Given the description of an element on the screen output the (x, y) to click on. 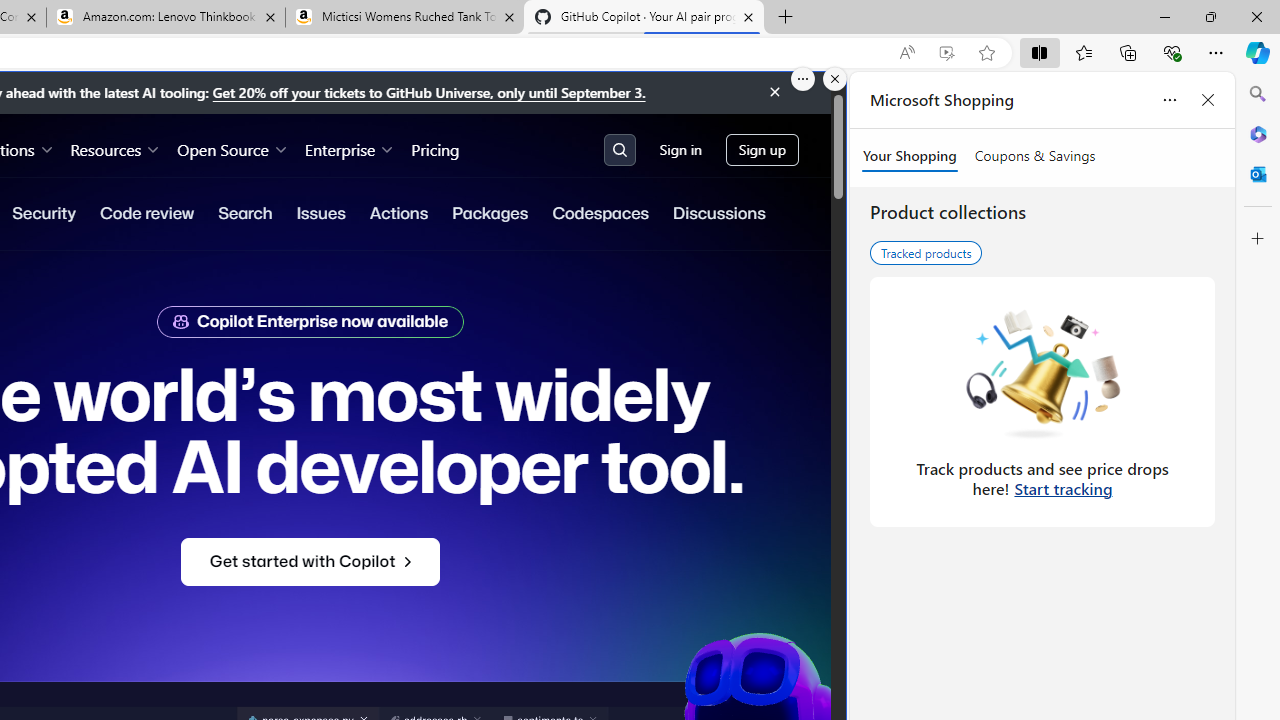
Open Source (232, 148)
Discussions (718, 213)
Codespaces (599, 213)
Security (43, 213)
More options. (803, 79)
Code review (146, 213)
Close split screen. (835, 79)
Packages (489, 213)
Get started with Copilot (310, 561)
